Given the description of an element on the screen output the (x, y) to click on. 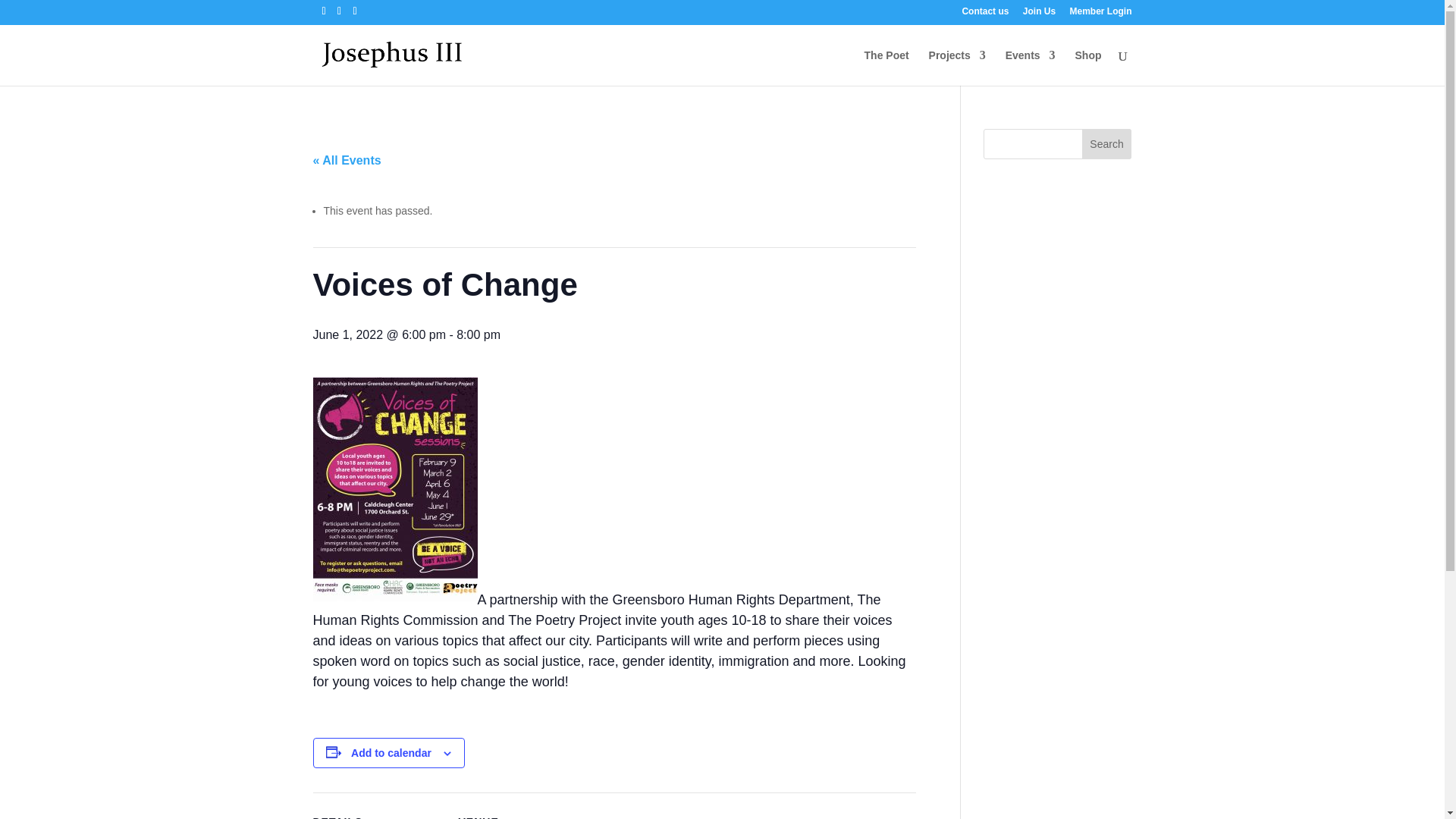
Events (1030, 67)
Projects (956, 67)
The Poet (886, 67)
Search (1106, 143)
Contact us (984, 14)
Member Login (1099, 14)
Add to calendar (390, 752)
Join Us (1039, 14)
